Given the description of an element on the screen output the (x, y) to click on. 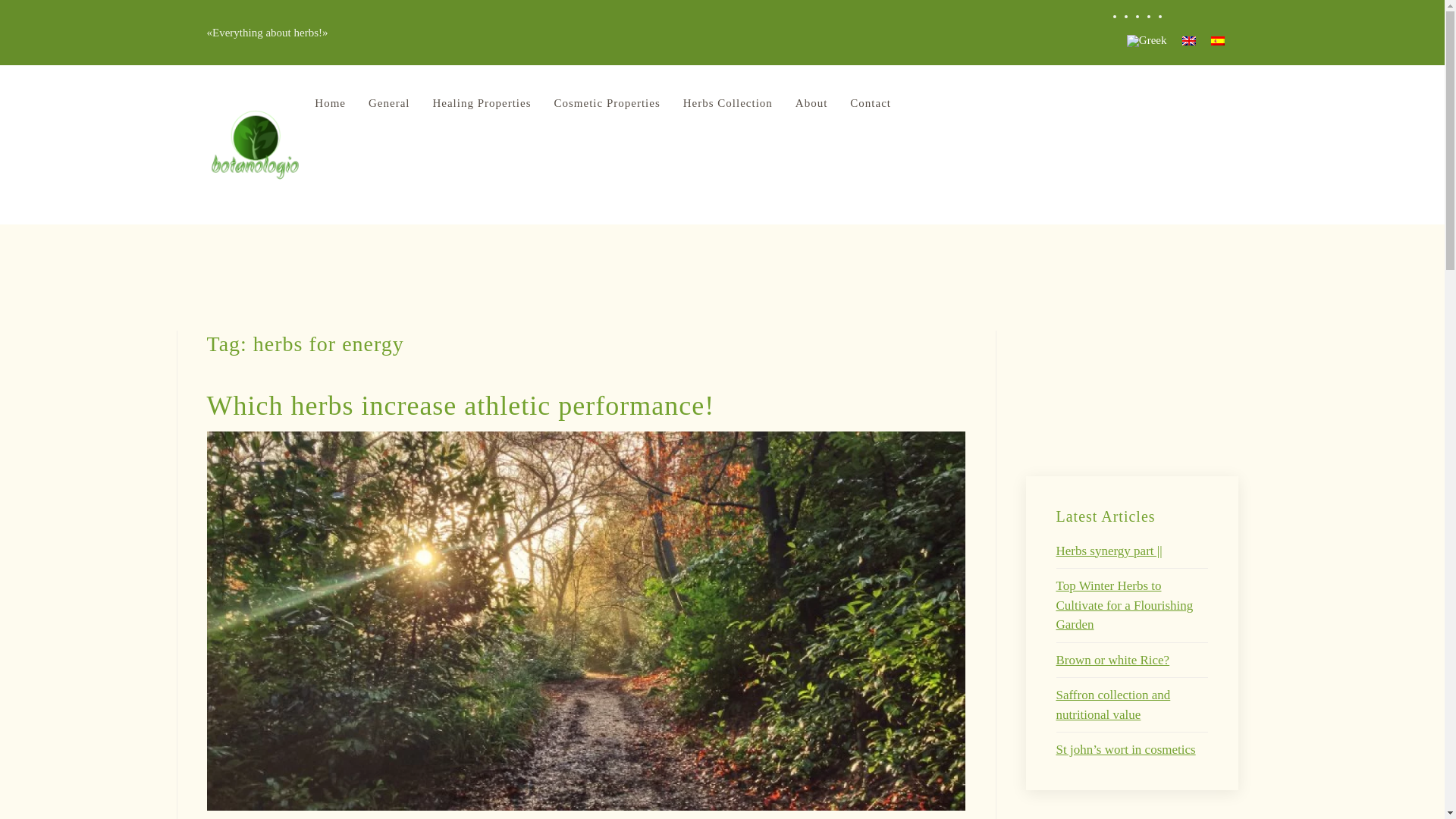
Cosmetic Properties (607, 102)
Healing Properties (480, 102)
Herbs Collection (727, 102)
